Given the description of an element on the screen output the (x, y) to click on. 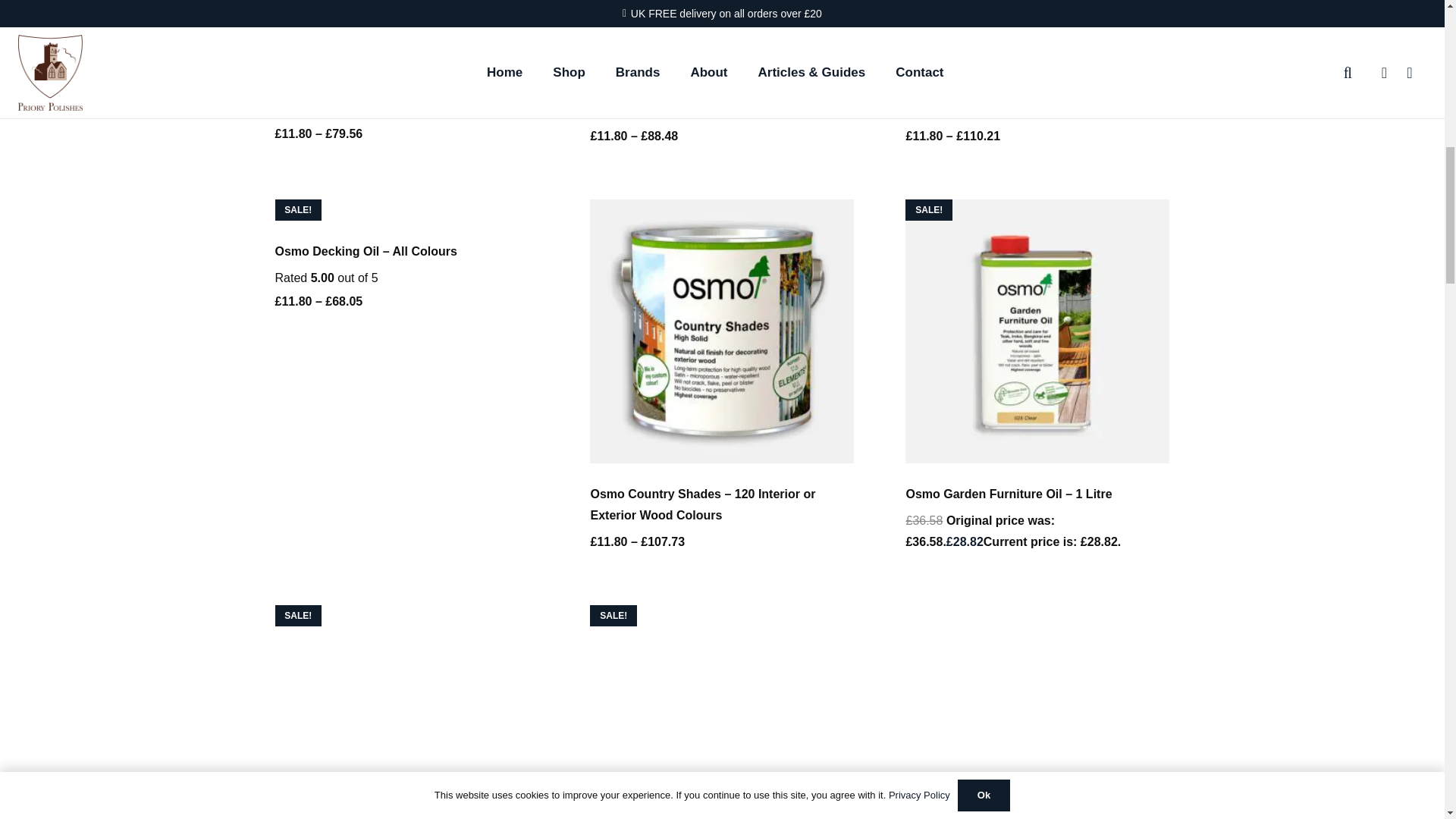
Back to top (1413, 26)
